Given the description of an element on the screen output the (x, y) to click on. 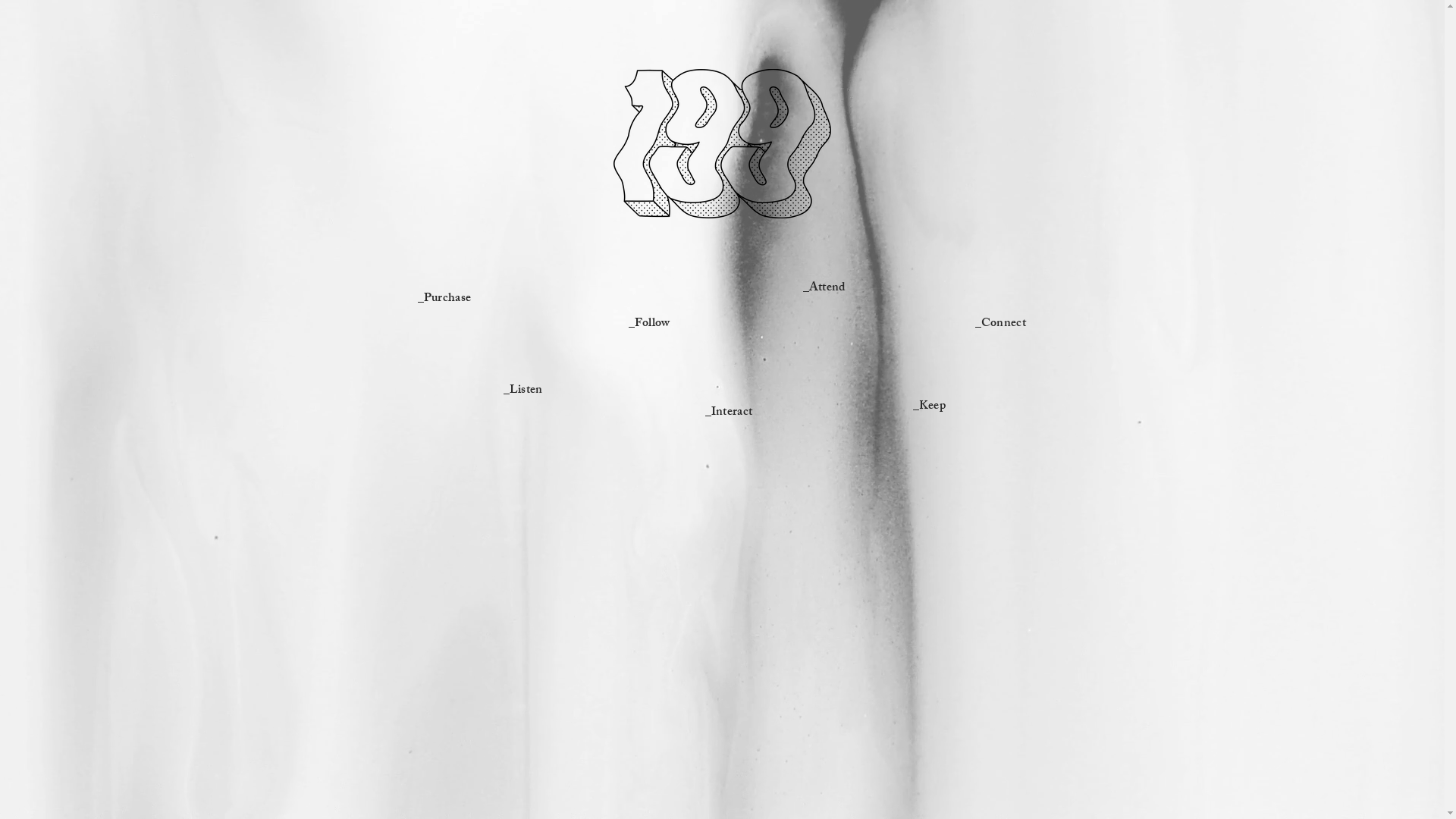
_Connect Element type: text (1000, 321)
_Keep Element type: text (929, 404)
_Attend Element type: text (823, 286)
199 logo drawn black.png Element type: hover (721, 143)
_Purchase Element type: text (443, 296)
_Interact Element type: text (729, 410)
_Follow Element type: text (648, 321)
_Listen Element type: text (522, 388)
